Given the description of an element on the screen output the (x, y) to click on. 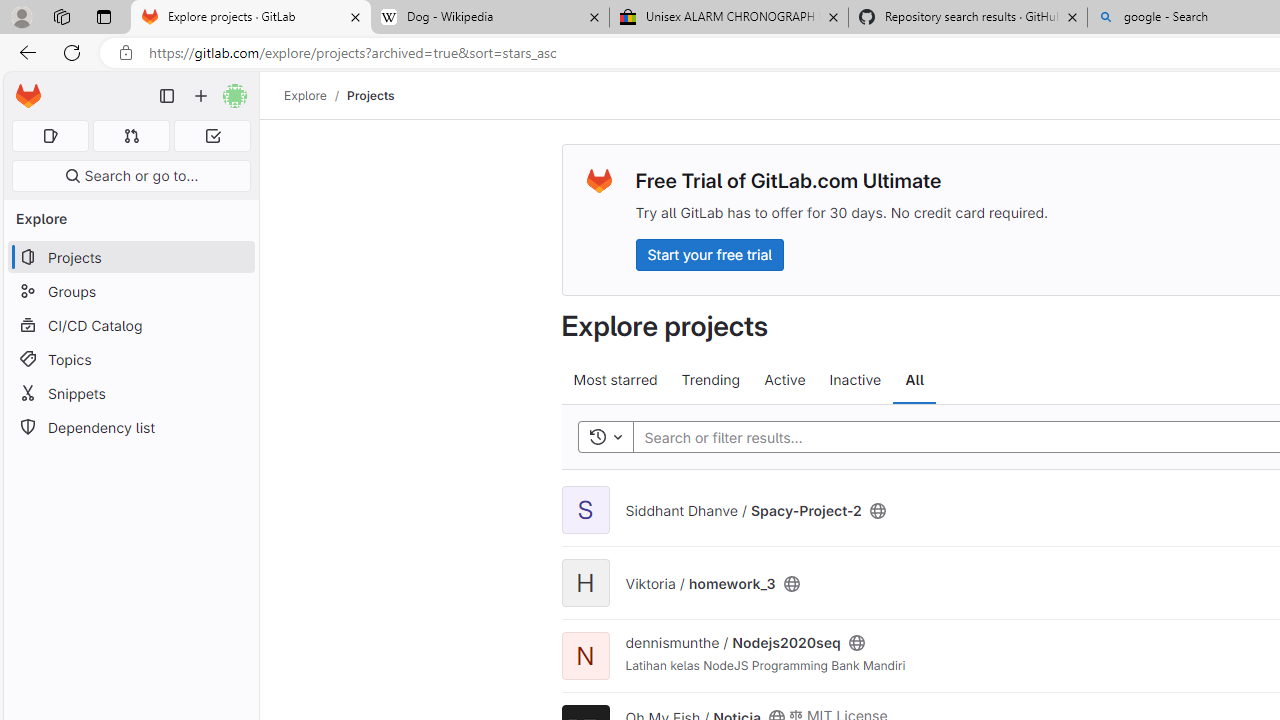
Explore (305, 95)
Groups (130, 291)
Assigned issues 0 (50, 136)
Most starred (614, 379)
Trending (710, 379)
To-Do list 0 (212, 136)
Merge requests 0 (131, 136)
dennismunthe / Nodejs2020seq (732, 643)
N (585, 656)
CI/CD Catalog (130, 325)
Skip to main content (23, 87)
Dependency list (130, 427)
